Given the description of an element on the screen output the (x, y) to click on. 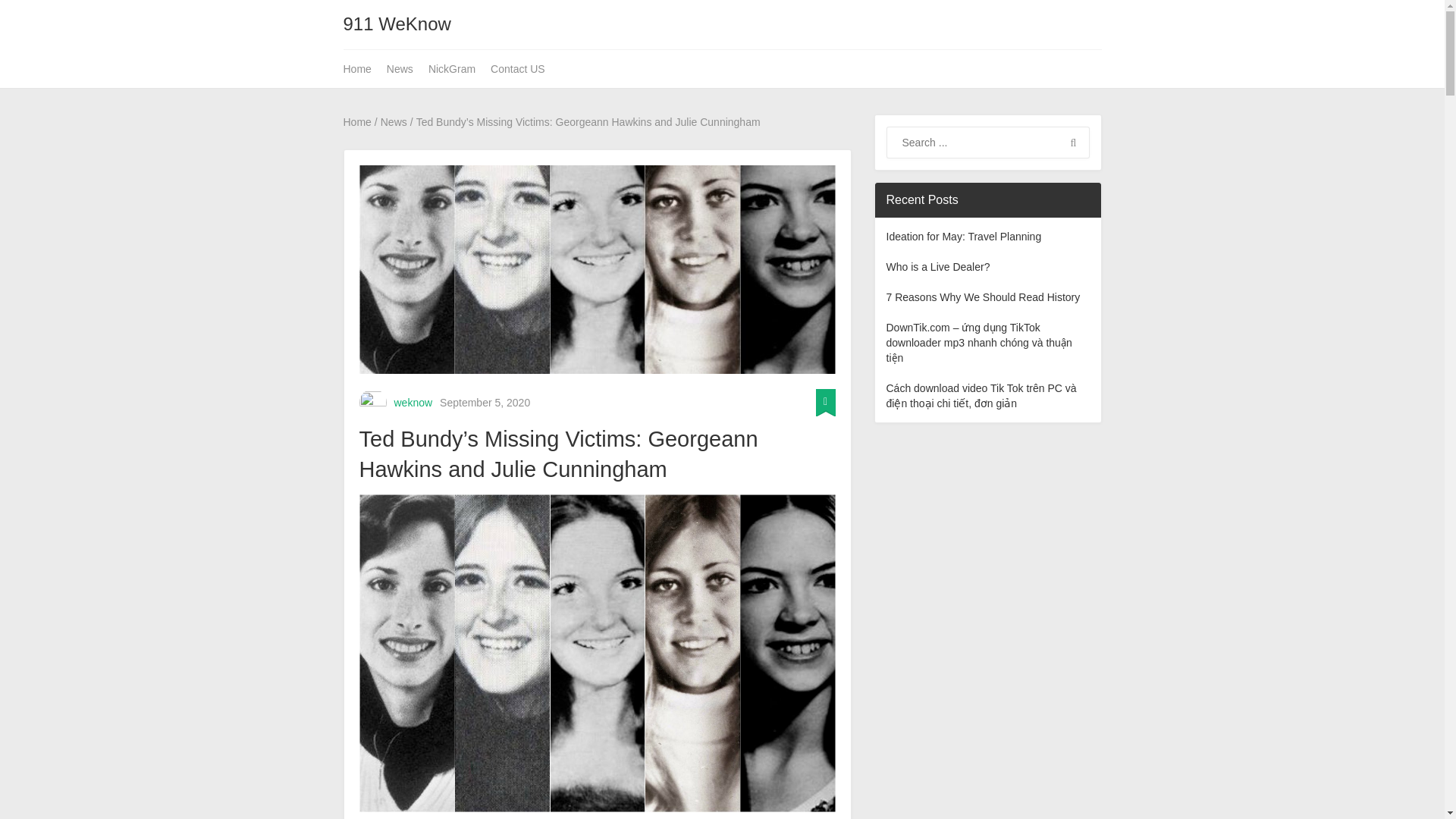
Posts by weknow (413, 402)
Home (356, 121)
Contact US (518, 68)
NickGram (451, 68)
weknow (413, 402)
Ideation for May: Travel Planning (963, 236)
911 WeKnow (395, 24)
News (399, 68)
7 Reasons Why We Should Read History (982, 297)
News (393, 121)
Who is a Live Dealer? (937, 266)
Home (360, 68)
